Given the description of an element on the screen output the (x, y) to click on. 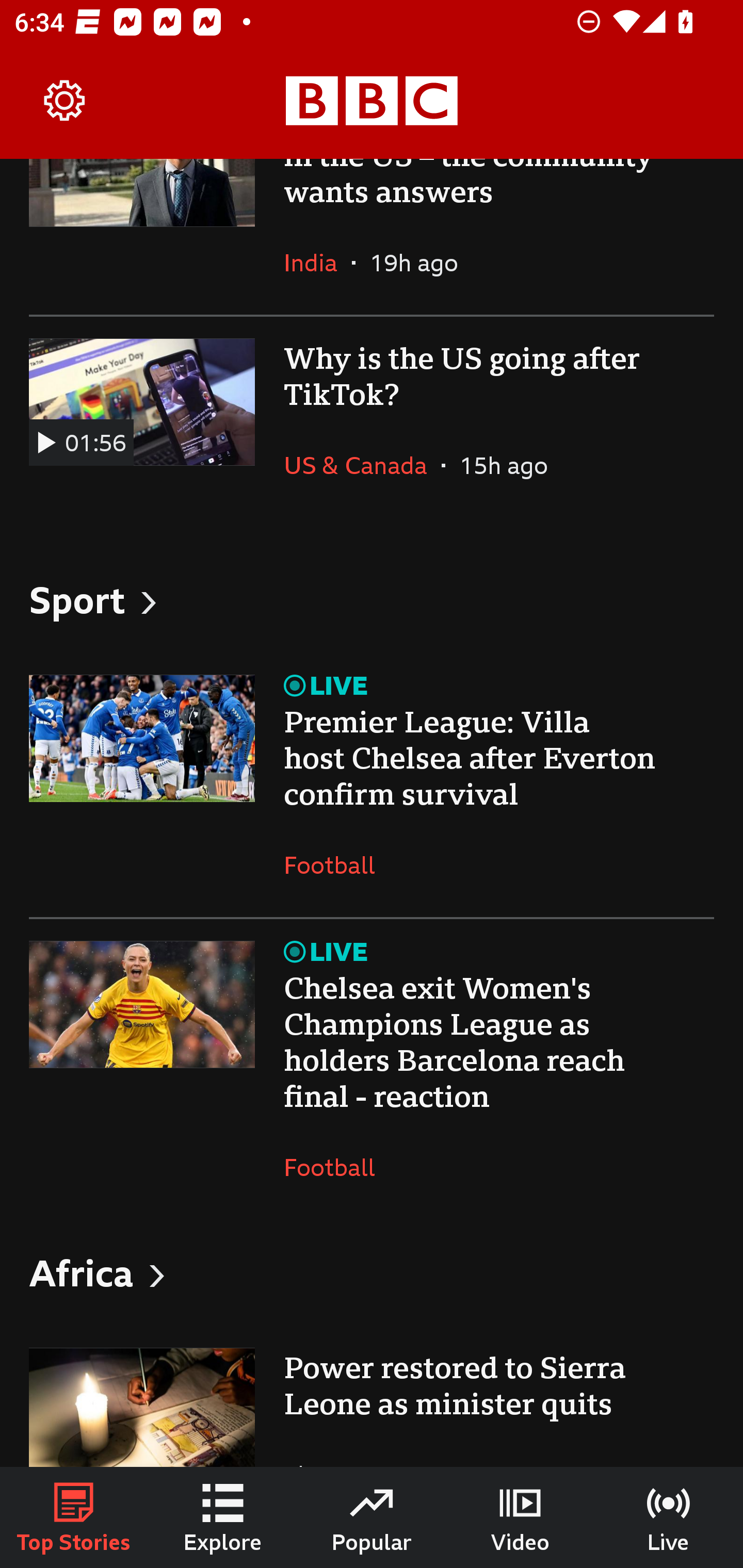
Settings (64, 100)
India In the section India (317, 262)
US & Canada In the section US & Canada (362, 464)
Sport, Heading Sport    (371, 598)
Football In the section Football (336, 864)
Football In the section Football (336, 1166)
Africa, Heading Africa    (371, 1272)
Explore (222, 1517)
Popular (371, 1517)
Video (519, 1517)
Live (668, 1517)
